Given the description of an element on the screen output the (x, y) to click on. 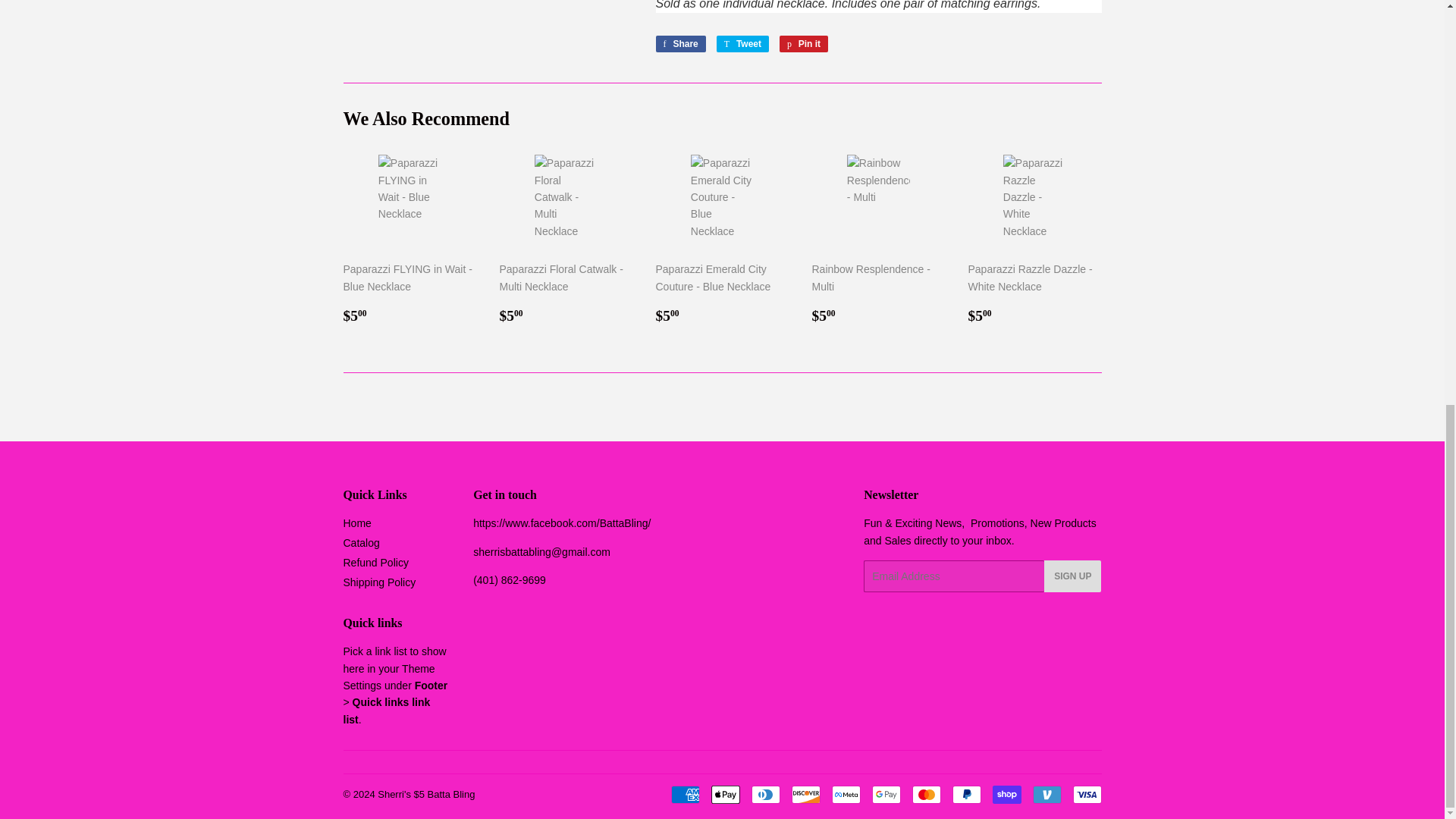
Google Pay (679, 44)
American Express (886, 794)
Visa (742, 44)
Share on Facebook (683, 794)
Diners Club (1085, 794)
Home (679, 44)
Apple Pay (764, 794)
Refund Policy (356, 522)
